Given the description of an element on the screen output the (x, y) to click on. 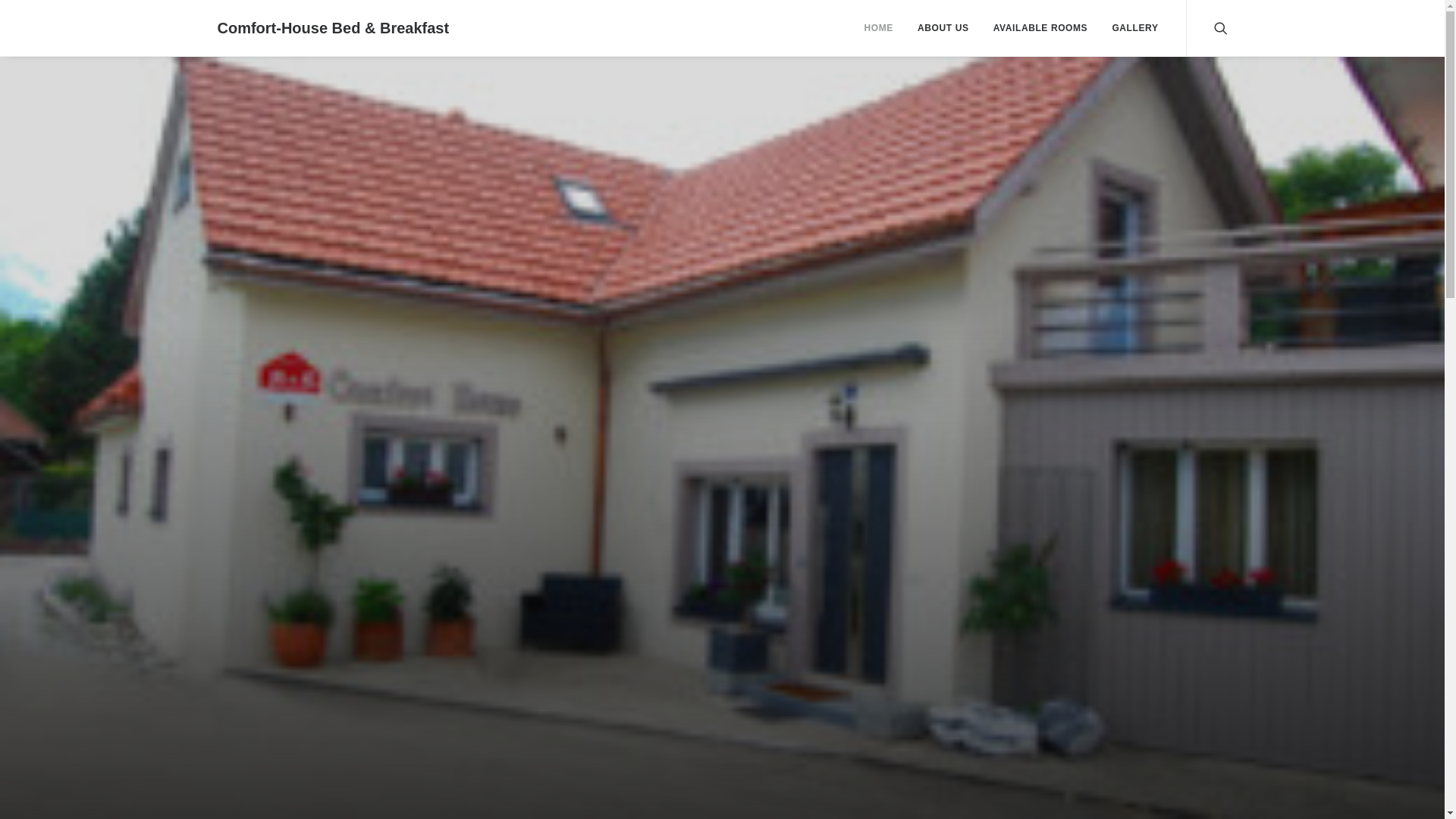
GALLERY Element type: text (1129, 28)
ABOUT US Element type: text (942, 28)
AVAILABLE ROOMS Element type: text (1040, 28)
HOME Element type: text (878, 28)
Comfort-House Bed & Breakfast Element type: text (332, 27)
Check availability Element type: text (1033, 496)
